Given the description of an element on the screen output the (x, y) to click on. 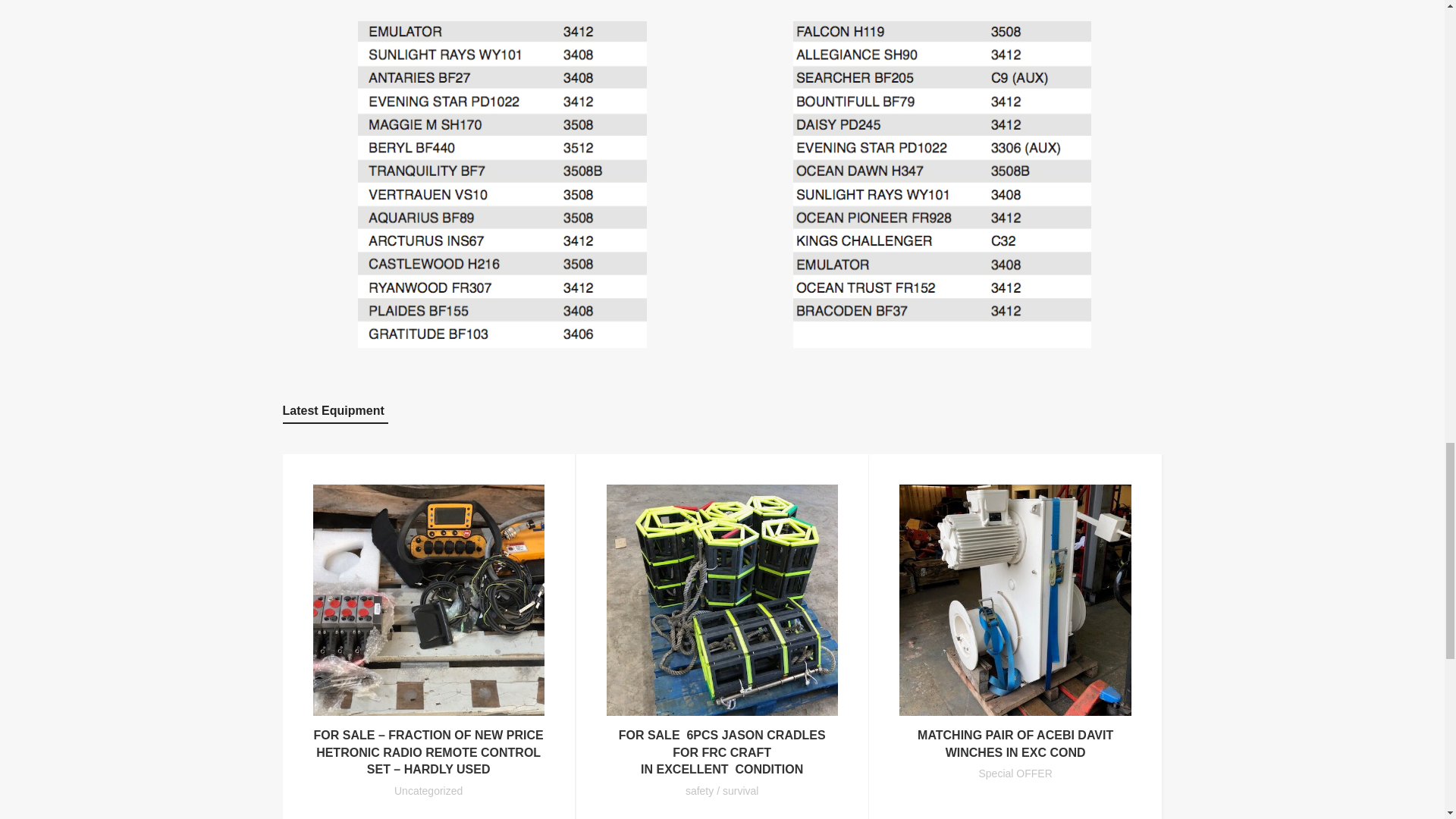
image007 (1015, 599)
image002 (428, 599)
Uncategorized (428, 790)
A (941, 184)
matching pair of ACEBI davit winches in exc cond (1015, 743)
